Given the description of an element on the screen output the (x, y) to click on. 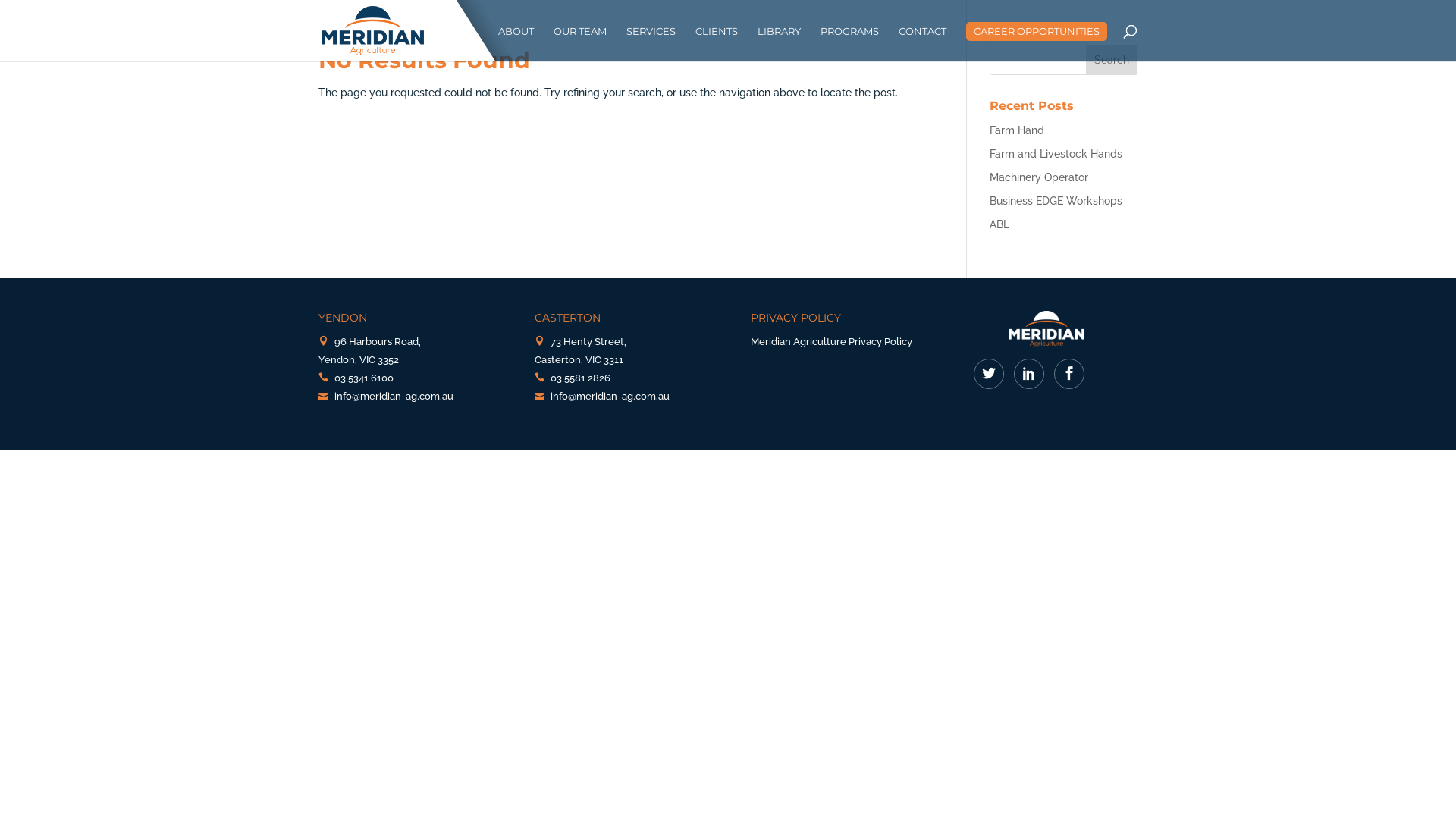
Farm and Livestock Hands Element type: text (1055, 153)
Business EDGE Workshops Element type: text (1055, 200)
ABOUT Element type: text (515, 43)
Meridian Agriculture Privacy Policy Element type: text (831, 341)
LIBRARY Element type: text (778, 43)
Search Element type: text (1111, 59)
CONTACT Element type: text (922, 43)
CLIENTS Element type: text (716, 43)
PROGRAMS Element type: text (849, 43)
CAREER OPPORTUNITIES Element type: text (1036, 30)
OUR TEAM Element type: text (579, 43)
Machinery Operator Element type: text (1038, 177)
SERVICES Element type: text (650, 43)
ABL Element type: text (999, 224)
Farm Hand Element type: text (1016, 130)
